Given the description of an element on the screen output the (x, y) to click on. 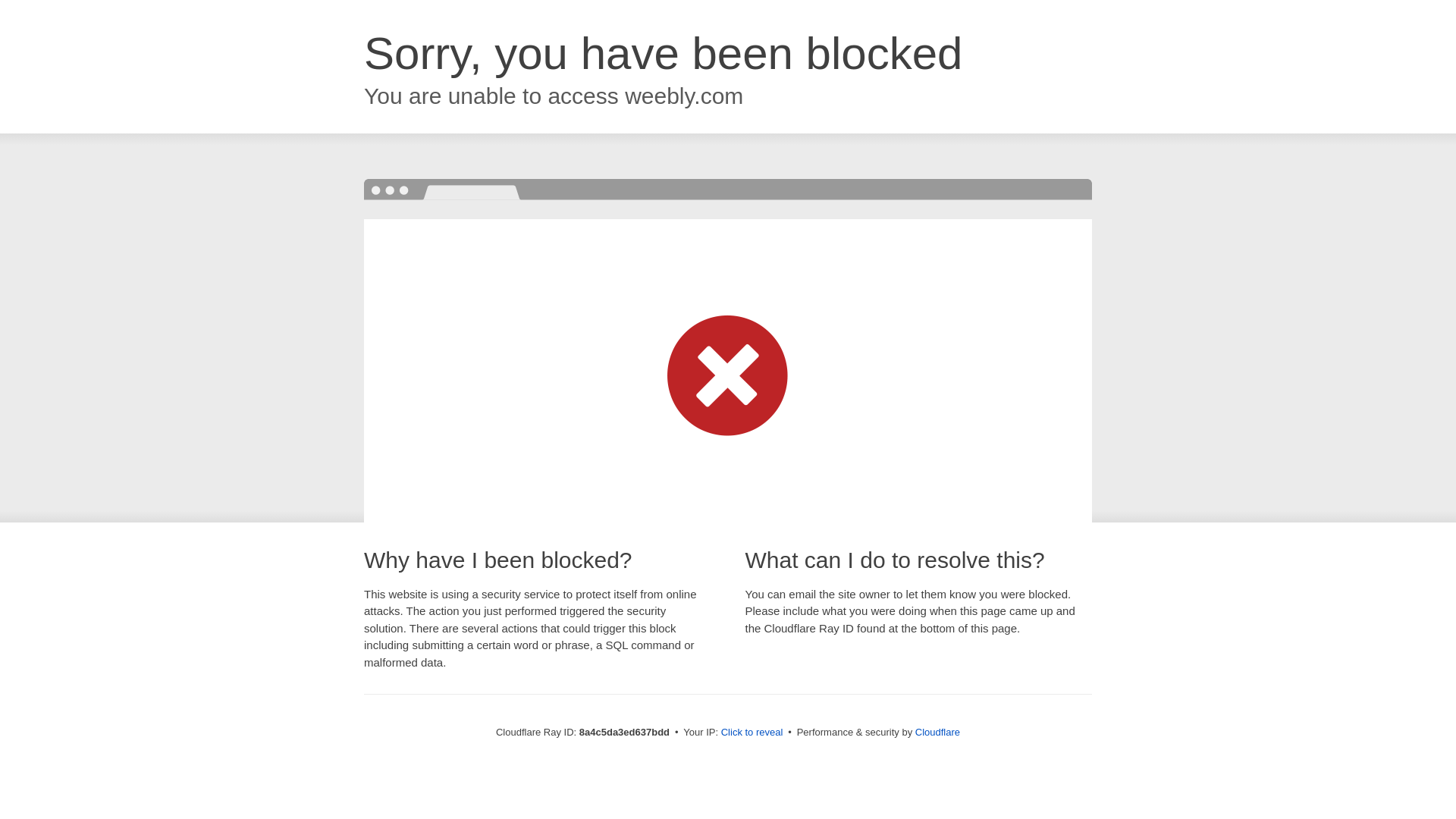
Click to reveal (751, 732)
Cloudflare (937, 731)
